Given the description of an element on the screen output the (x, y) to click on. 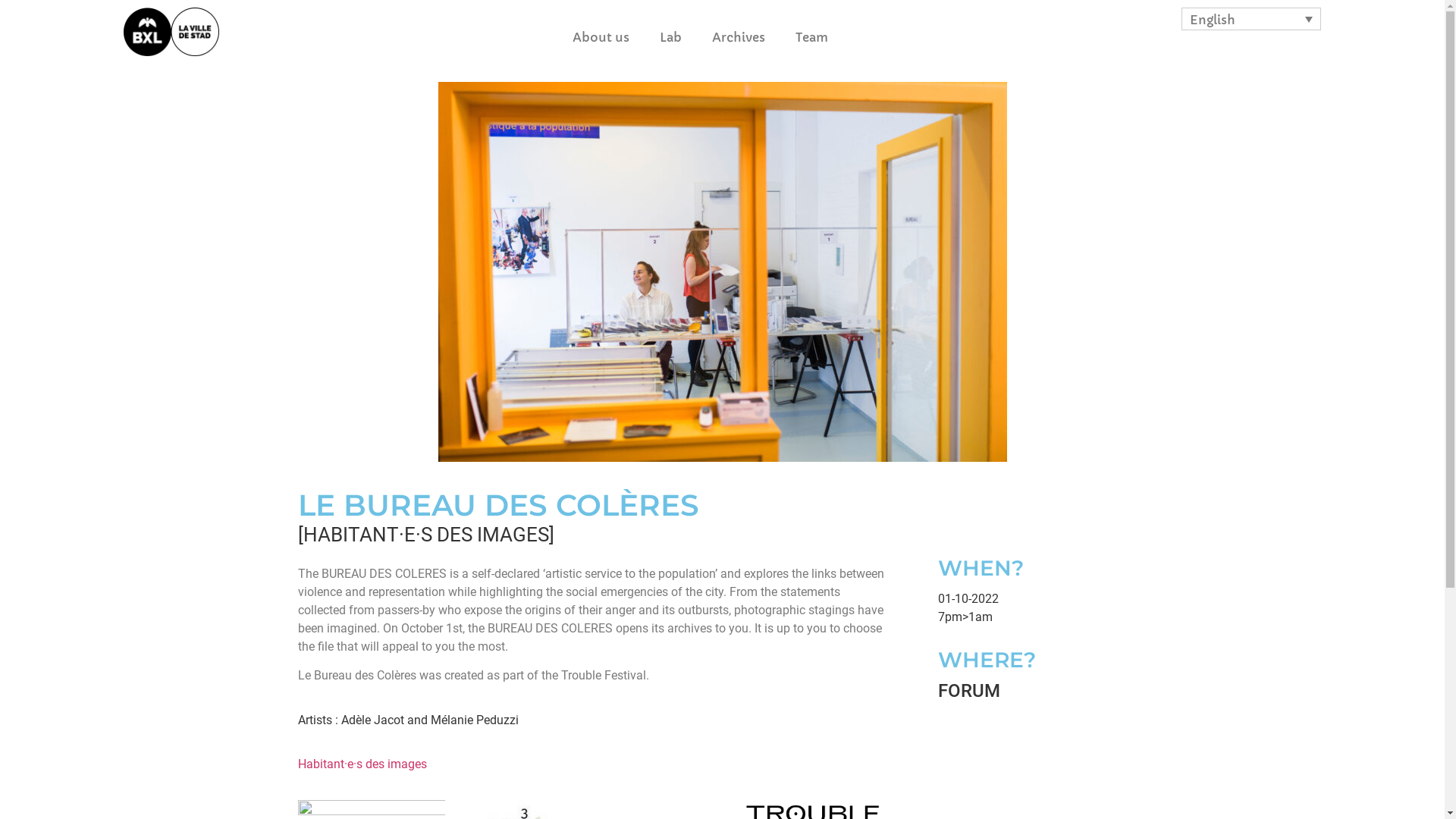
Archives Element type: text (738, 36)
English Element type: text (1251, 18)
About us Element type: text (600, 36)
Lab Element type: text (670, 36)
Team Element type: text (811, 36)
